Given the description of an element on the screen output the (x, y) to click on. 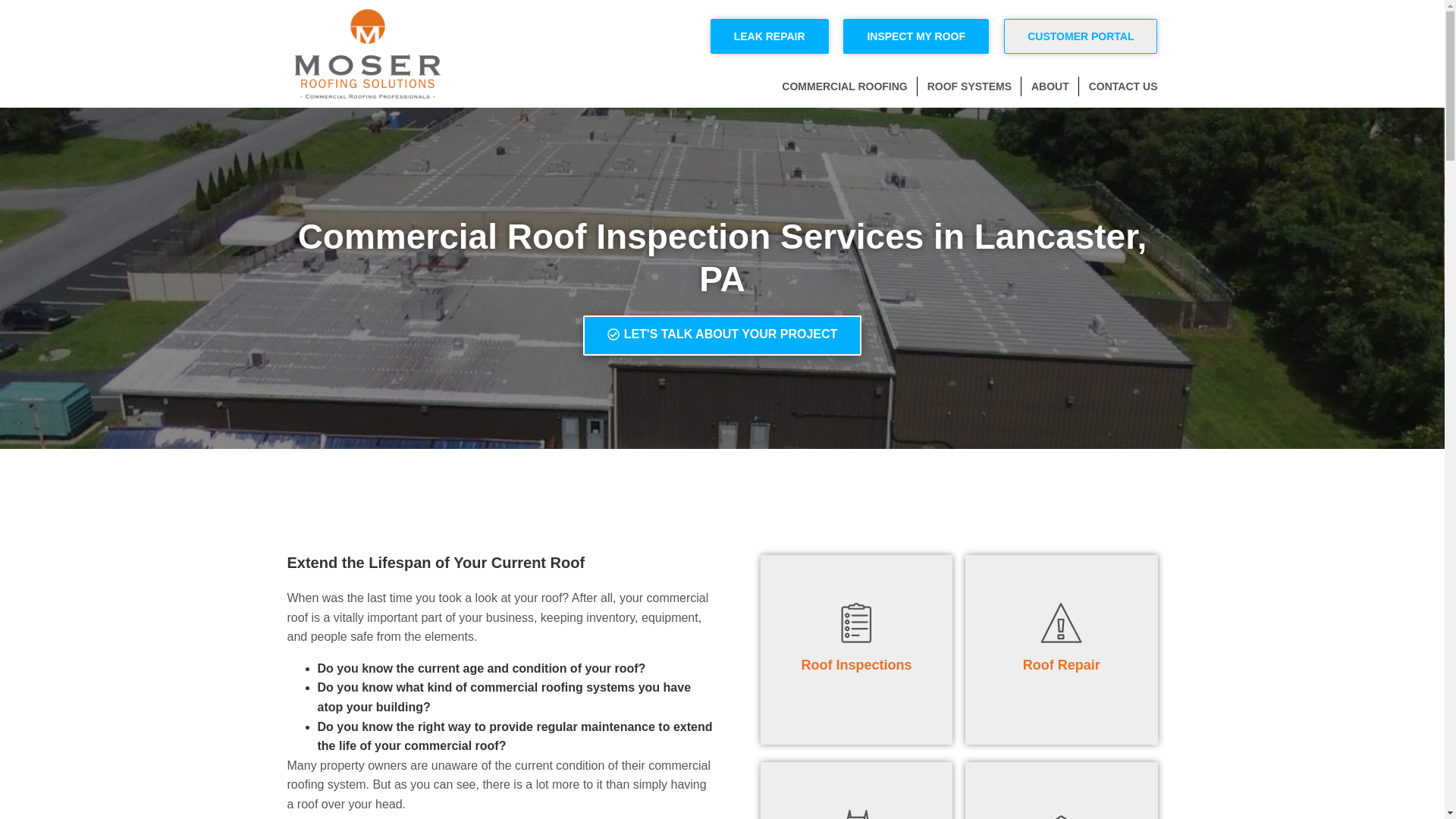
inspection (856, 622)
ABOUT (1049, 86)
CUSTOMER PORTAL (1080, 36)
LEAK REPAIR (769, 36)
ROOF SYSTEMS (969, 86)
emergency (1061, 622)
CONTACT US (1123, 86)
INSPECT MY ROOF (915, 36)
COMMERCIAL ROOFING (844, 86)
